Given the description of an element on the screen output the (x, y) to click on. 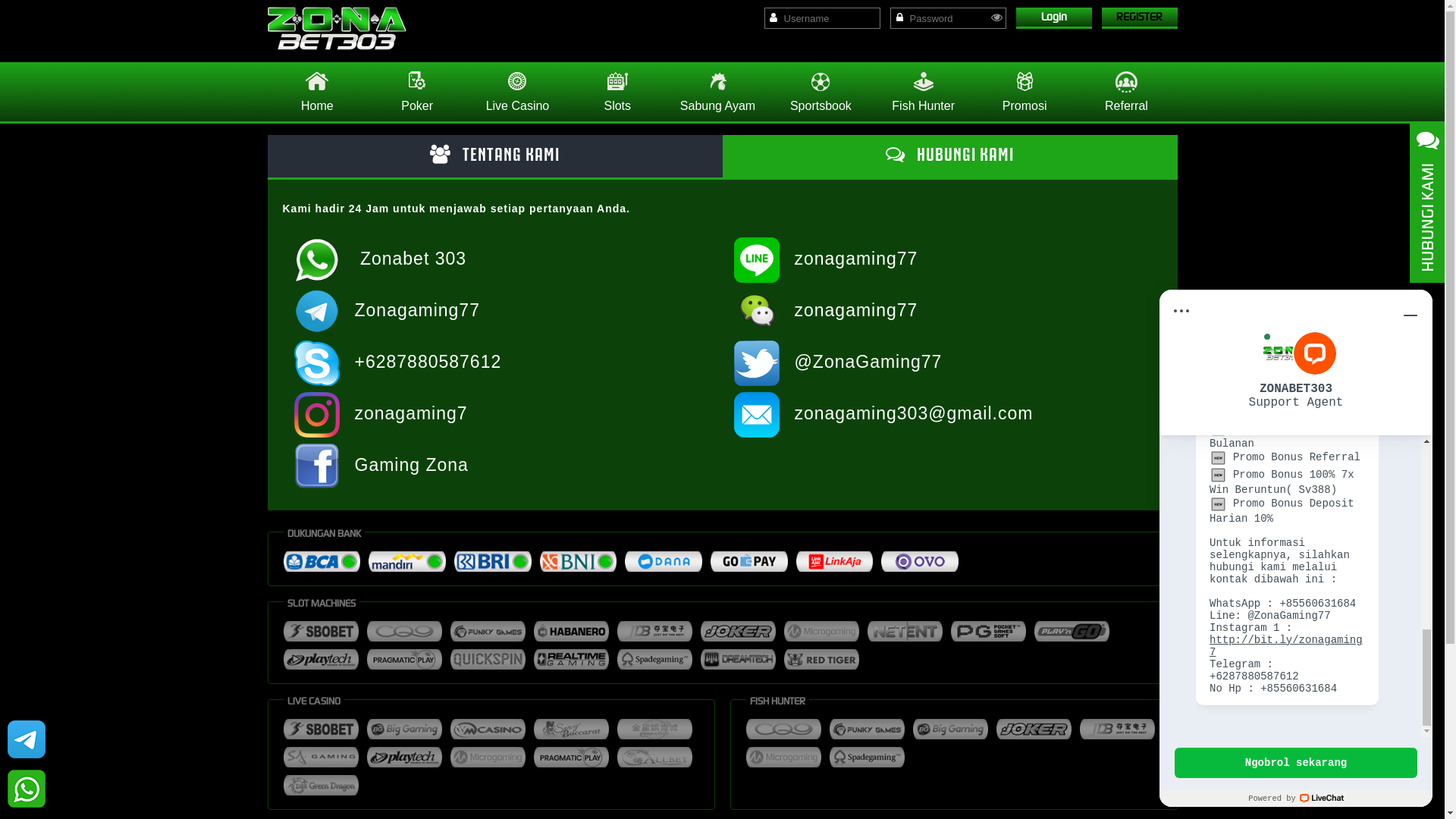
Slots Element type: text (617, 91)
Zonabet 303 Element type: text (413, 258)
Sportsbook Element type: text (820, 91)
Live Casino Element type: text (517, 91)
HUBUNGI KAMI Element type: text (948, 155)
Login Element type: text (1054, 17)
Poker Element type: text (416, 91)
REGISTER Element type: text (1138, 17)
TENTANG KAMI Element type: text (493, 155)
Sabung Ayam Element type: text (717, 91)
Fish Hunter Element type: text (923, 91)
Zonabet 303 Element type: hover (336, 28)
telegram Element type: hover (26, 739)
Referral Element type: text (1125, 91)
Promosi Element type: text (1024, 91)
whatsapp Element type: hover (26, 788)
Home Element type: text (316, 91)
